Given the description of an element on the screen output the (x, y) to click on. 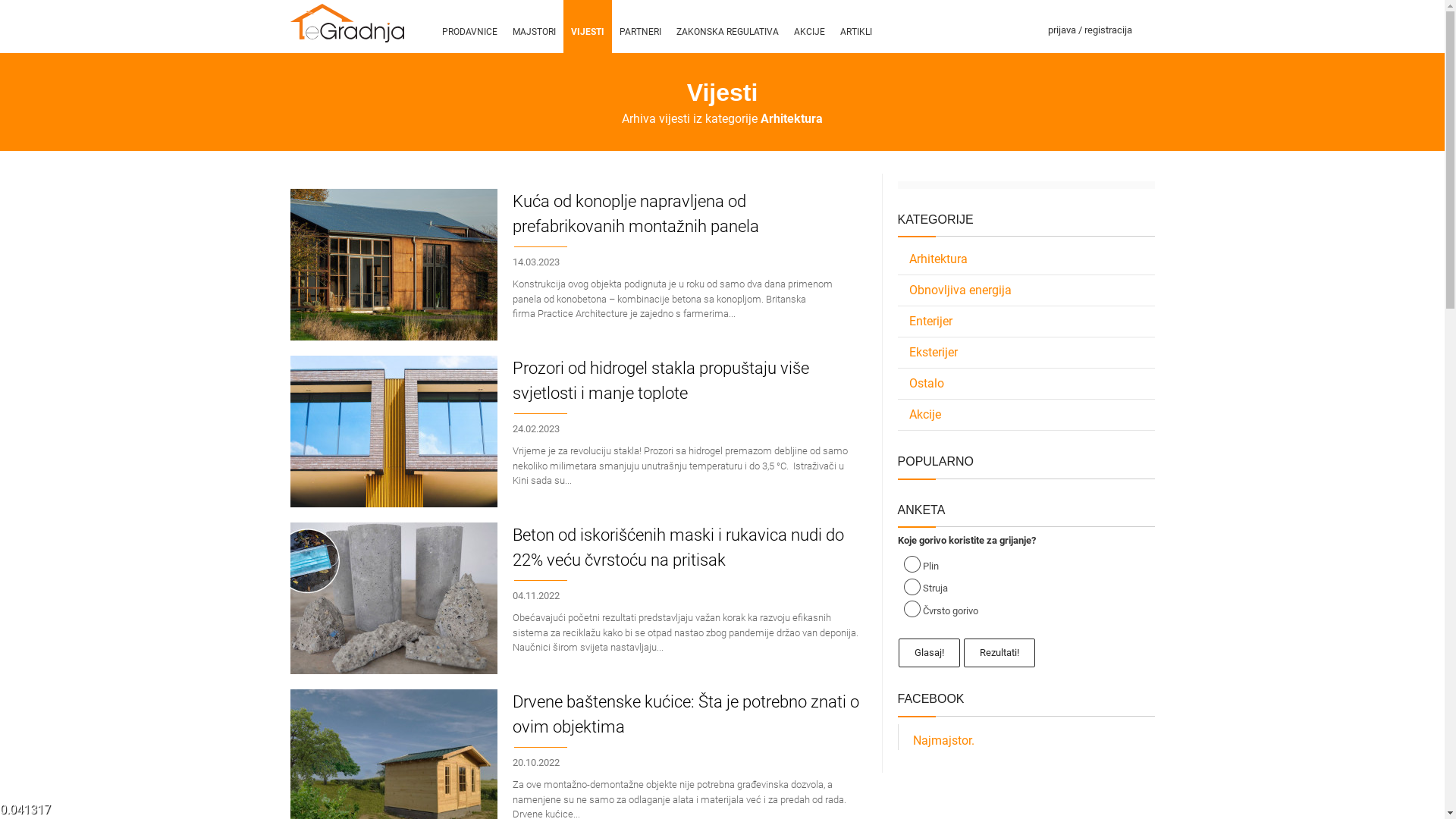
ZAKONSKA REGULATIVA Element type: text (727, 26)
Akcije Element type: text (1025, 414)
VIJESTI Element type: text (586, 26)
PRODAVNICE Element type: text (468, 26)
PARTNERI Element type: text (639, 26)
Najmajstor. Element type: text (943, 740)
AKCIJE Element type: text (808, 26)
Glasaj! Element type: text (929, 652)
ARTIKLI Element type: text (855, 26)
Eksterijer Element type: text (1025, 352)
Obnovljiva energija Element type: text (1025, 290)
Arhitektura Element type: text (1025, 259)
Ostalo Element type: text (1025, 383)
prijava / registracija Element type: text (1089, 26)
MAJSTORI Element type: text (534, 26)
Rezultati! Element type: text (999, 652)
Enterijer Element type: text (1025, 321)
